Given the description of an element on the screen output the (x, y) to click on. 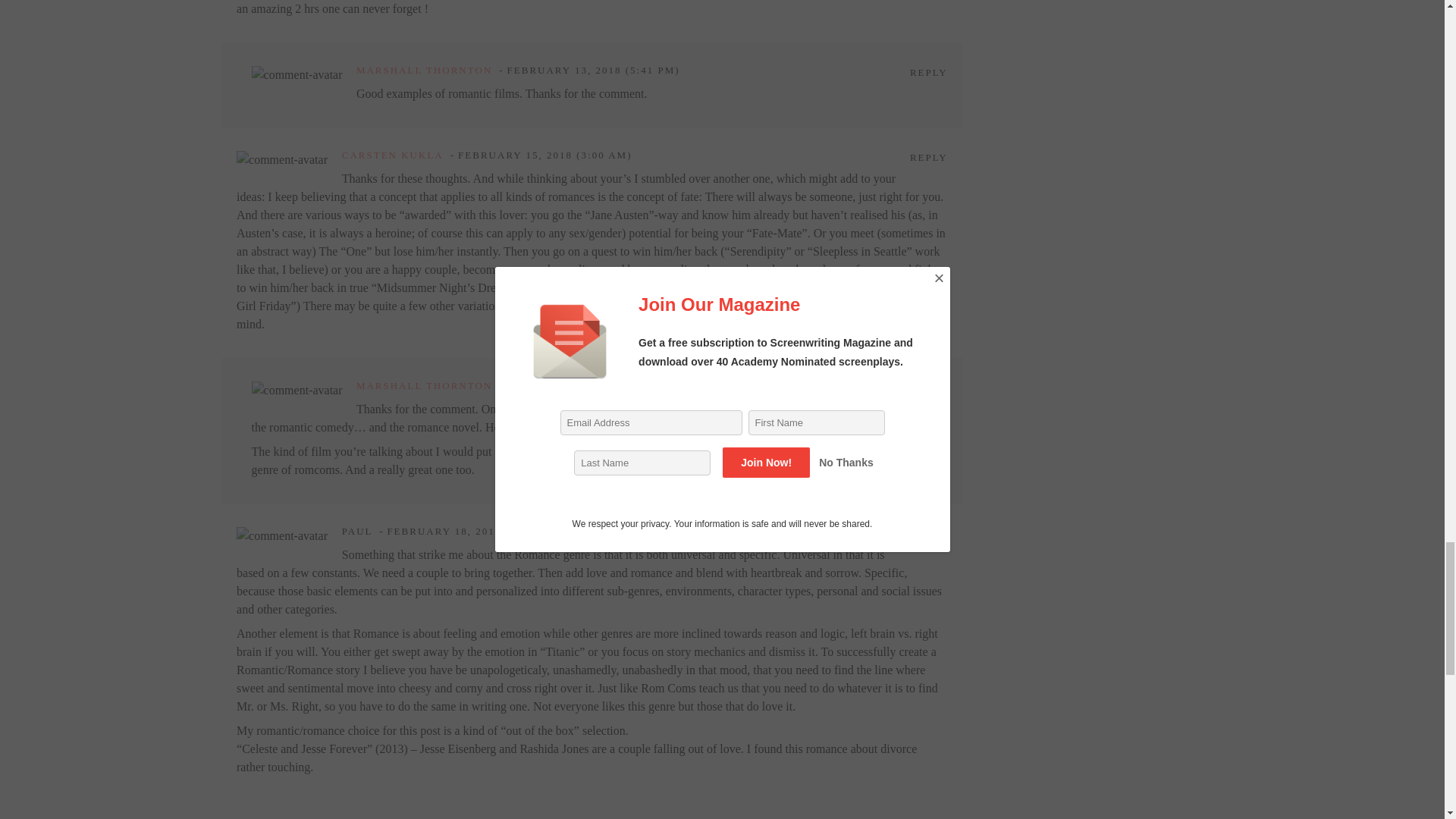
Advertisement (1130, 63)
